Given the description of an element on the screen output the (x, y) to click on. 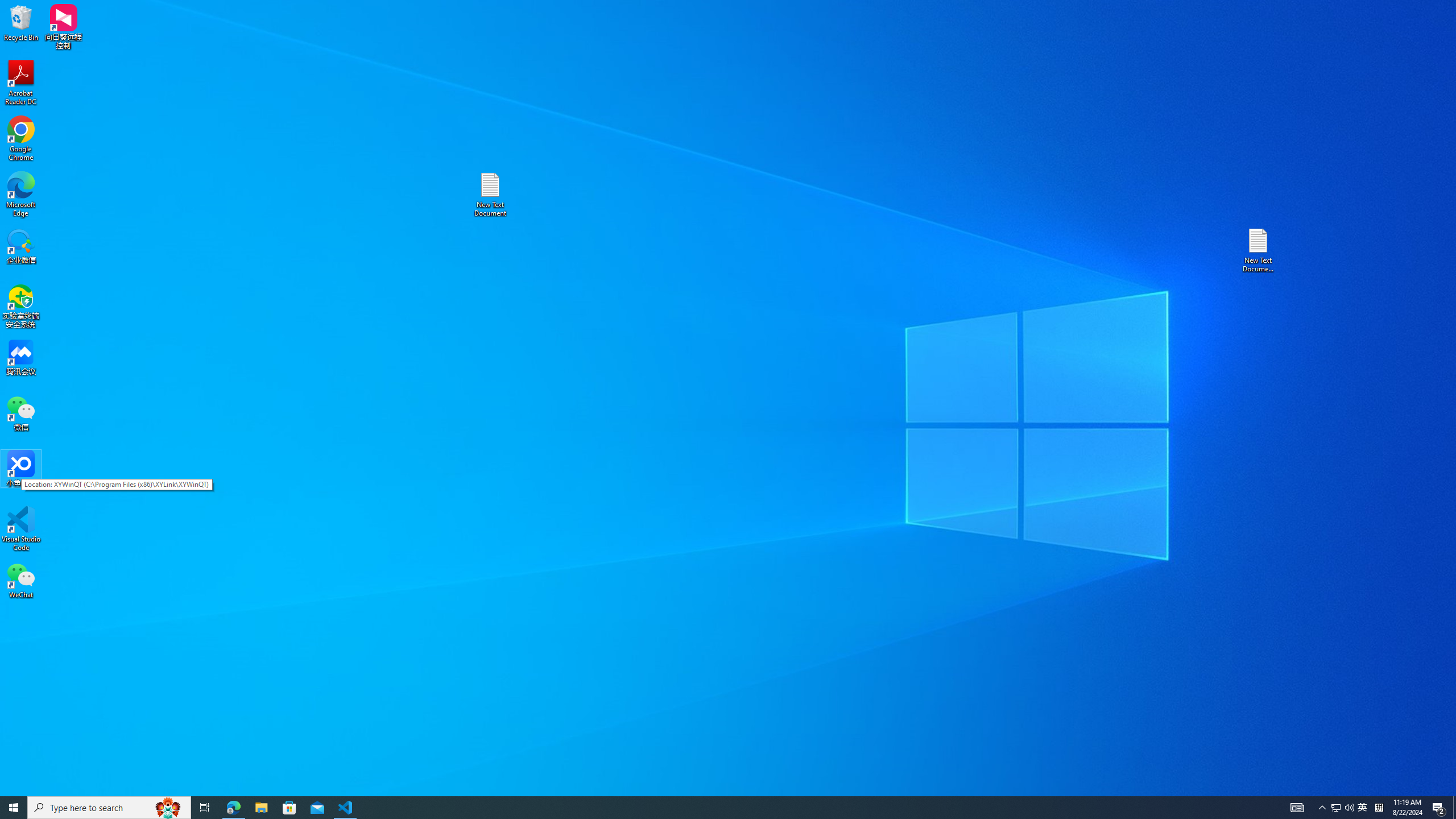
Type here to search (108, 807)
File Explorer (261, 807)
New Text Document (2) (1258, 250)
